Given the description of an element on the screen output the (x, y) to click on. 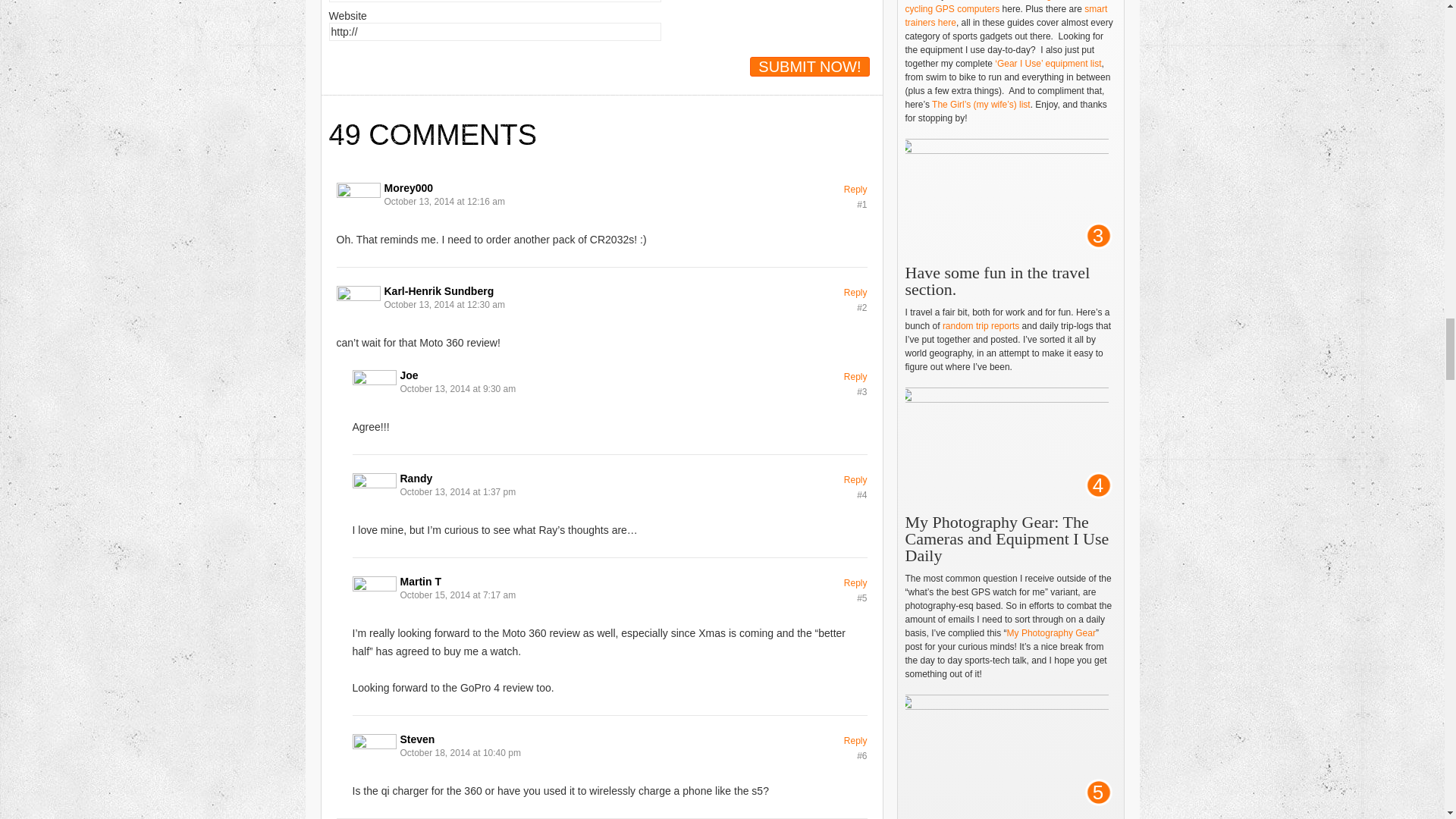
Submit Now! (809, 66)
